Given the description of an element on the screen output the (x, y) to click on. 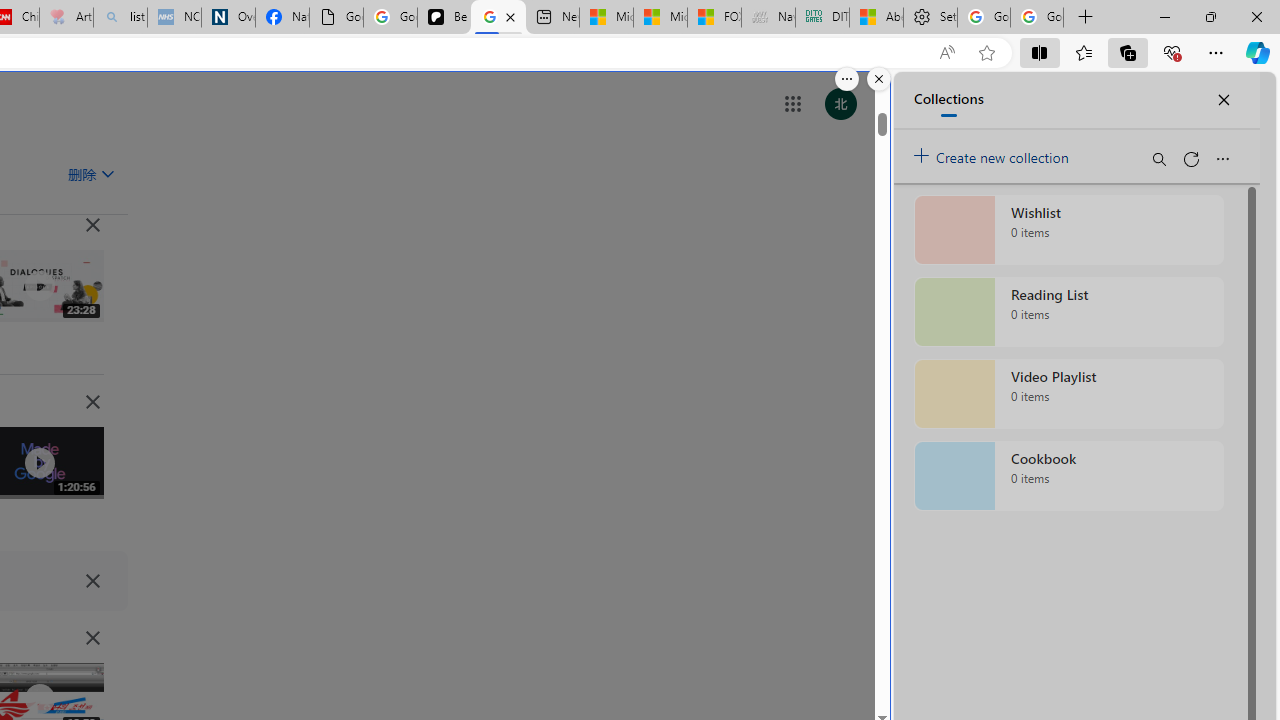
Arthritis: Ask Health Professionals - Sleeping (66, 17)
Google Analytics Opt-out Browser Add-on Download Page (336, 17)
Aberdeen, Hong Kong SAR hourly forecast | Microsoft Weather (875, 17)
Close split screen. (878, 79)
